Given the description of an element on the screen output the (x, y) to click on. 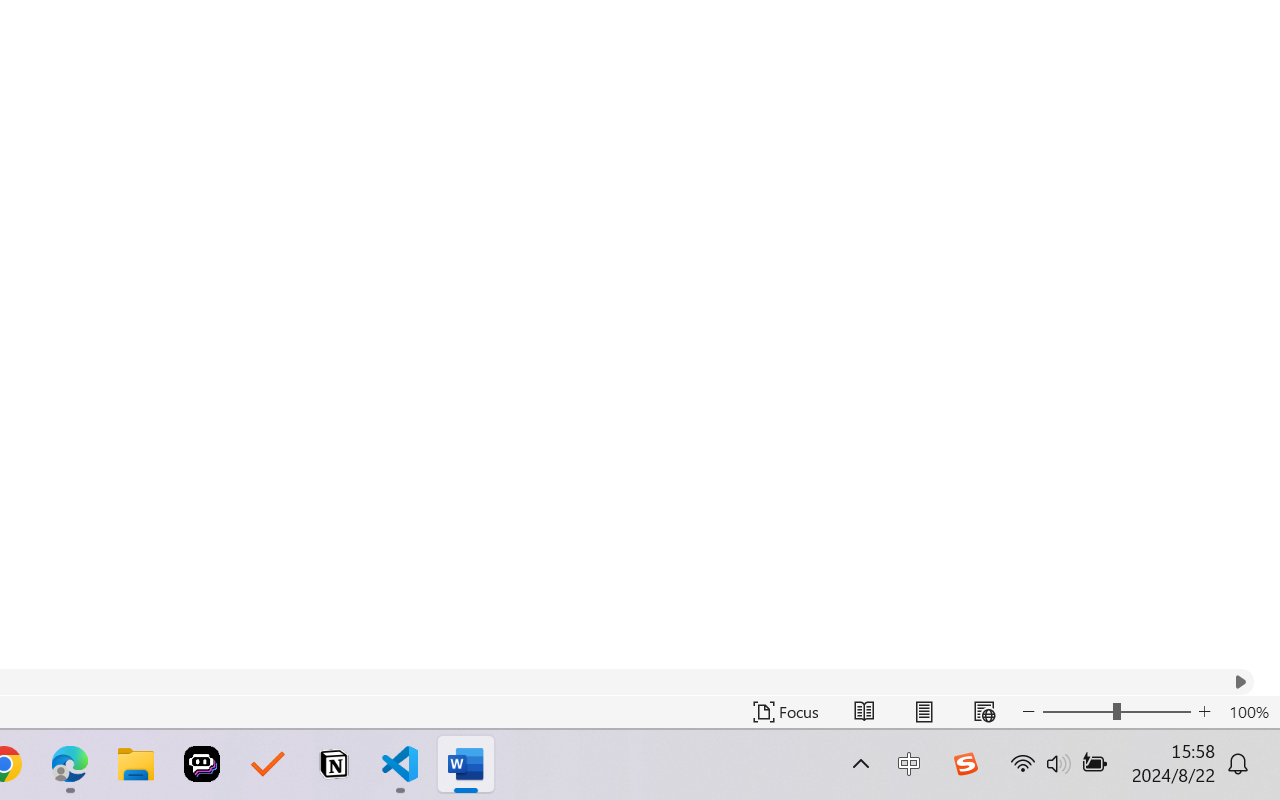
Zoom 214% (1234, 743)
